Given the description of an element on the screen output the (x, y) to click on. 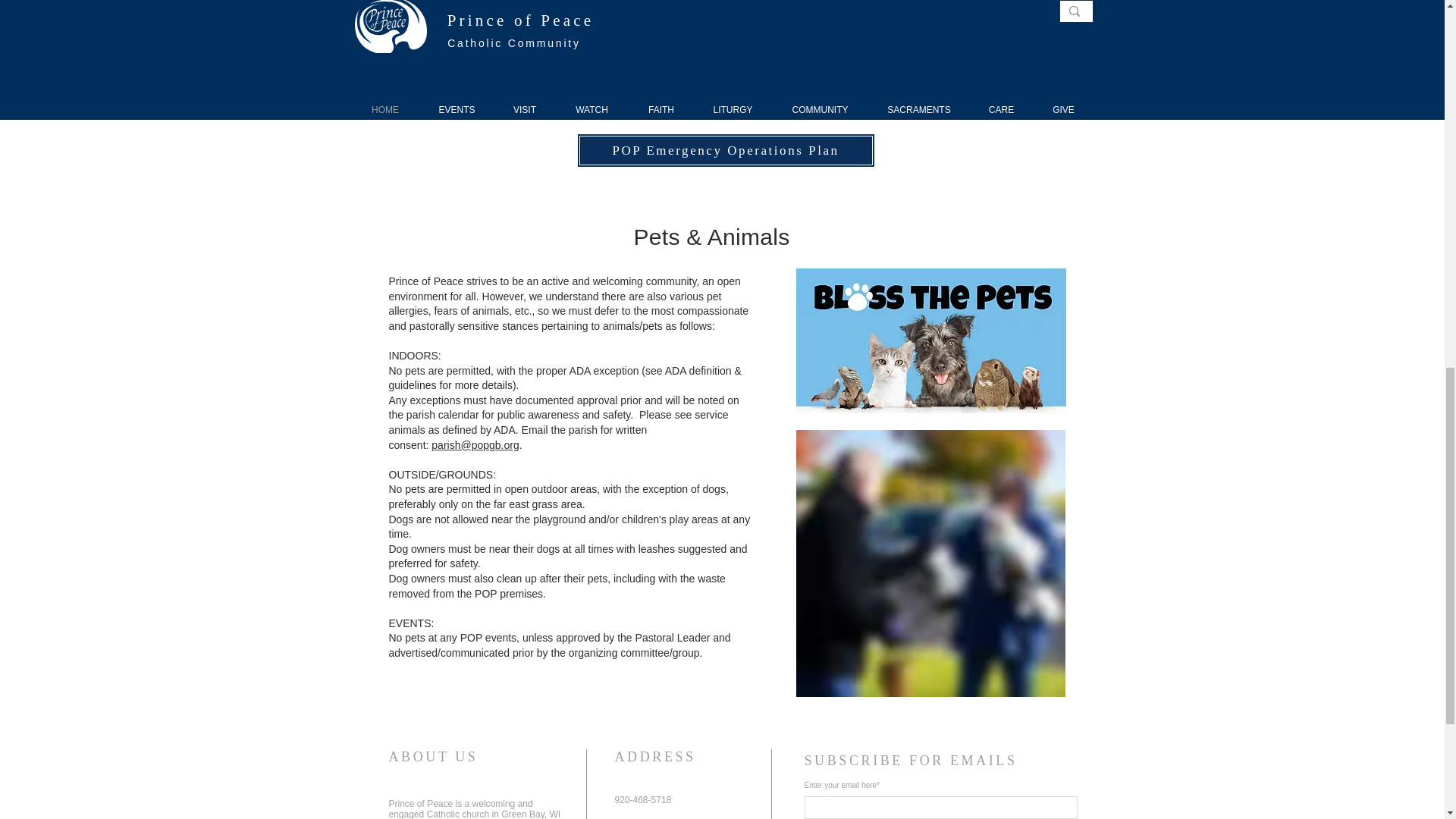
POP Emergency Operations Plan (725, 150)
